Given the description of an element on the screen output the (x, y) to click on. 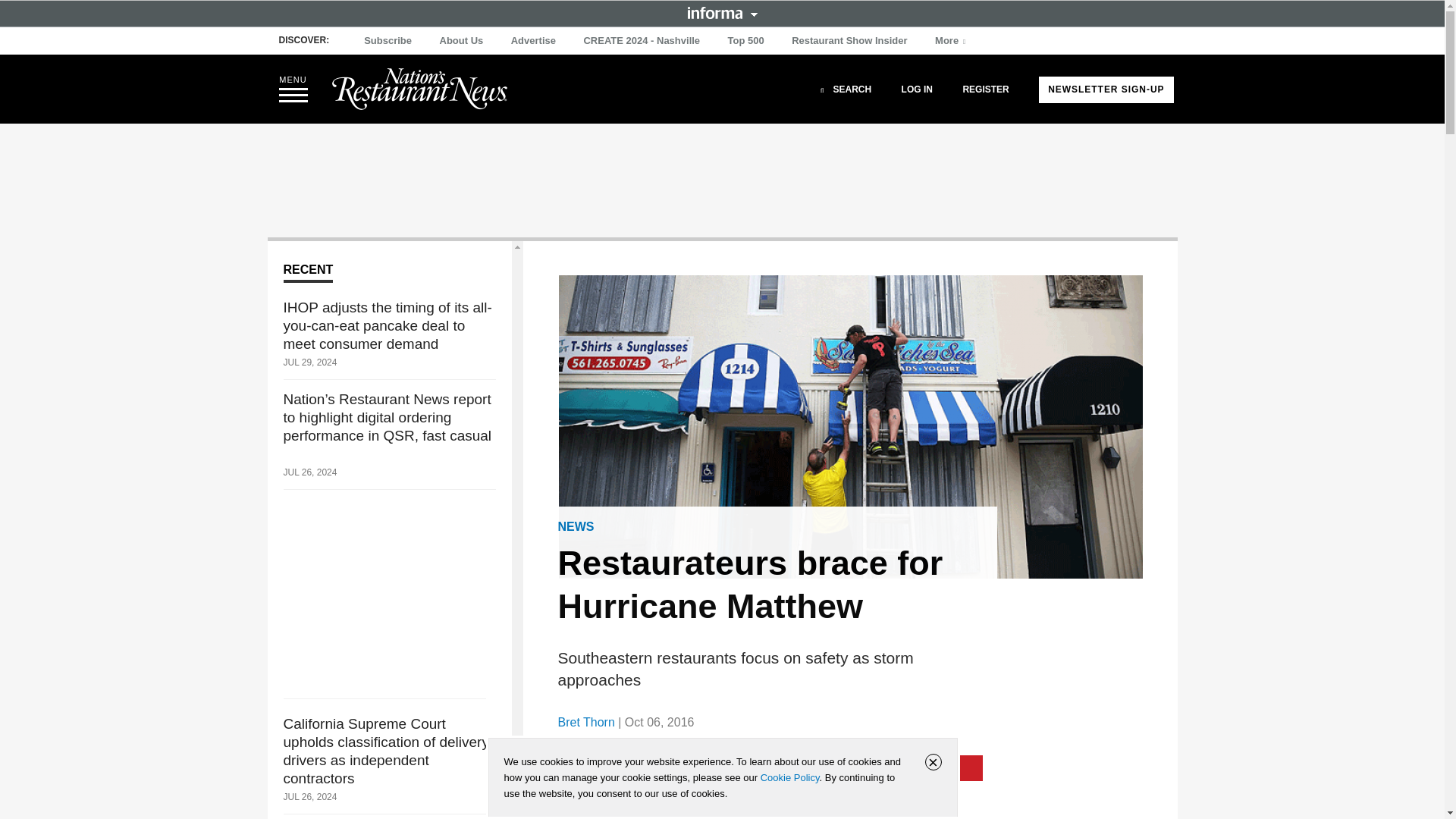
CREATE 2024 - Nashville (641, 41)
Restaurant Show Insider (849, 41)
INFORMA (722, 12)
About Us (461, 41)
Subscribe (387, 41)
More (951, 41)
Cookie Policy (789, 777)
Top 500 (746, 41)
Advertise (533, 41)
